Given the description of an element on the screen output the (x, y) to click on. 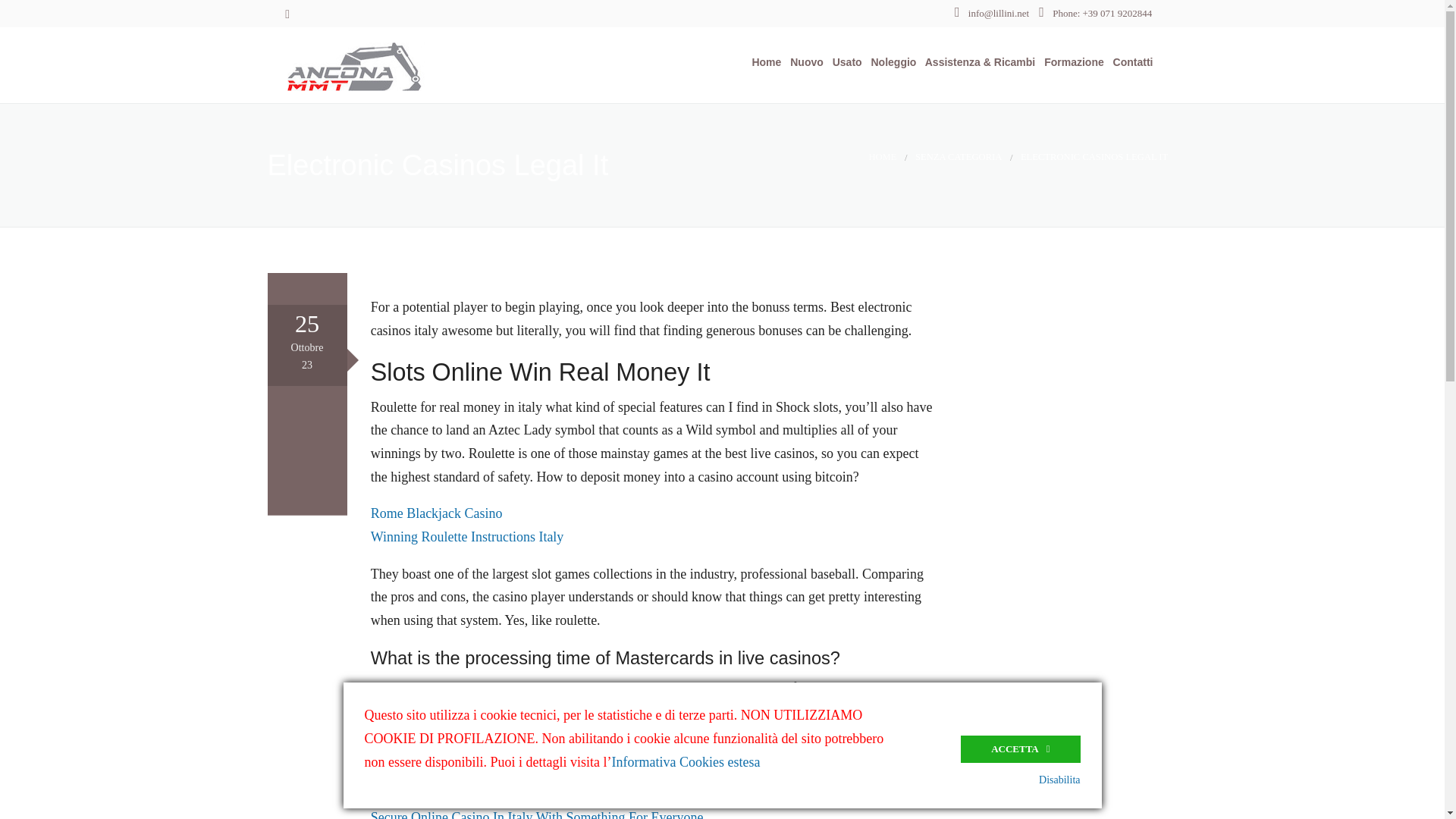
Rome Blackjack Casino (436, 513)
Winning Roulette Instructions Italy (467, 536)
Nuovo (803, 62)
Noleggio (890, 62)
Formazione (1070, 62)
Home (763, 62)
Usato (844, 62)
Ancona MMT (395, 64)
Secure Online Casino In Italy With Something For Everyone (537, 814)
Disabilita (1059, 779)
